Given the description of an element on the screen output the (x, y) to click on. 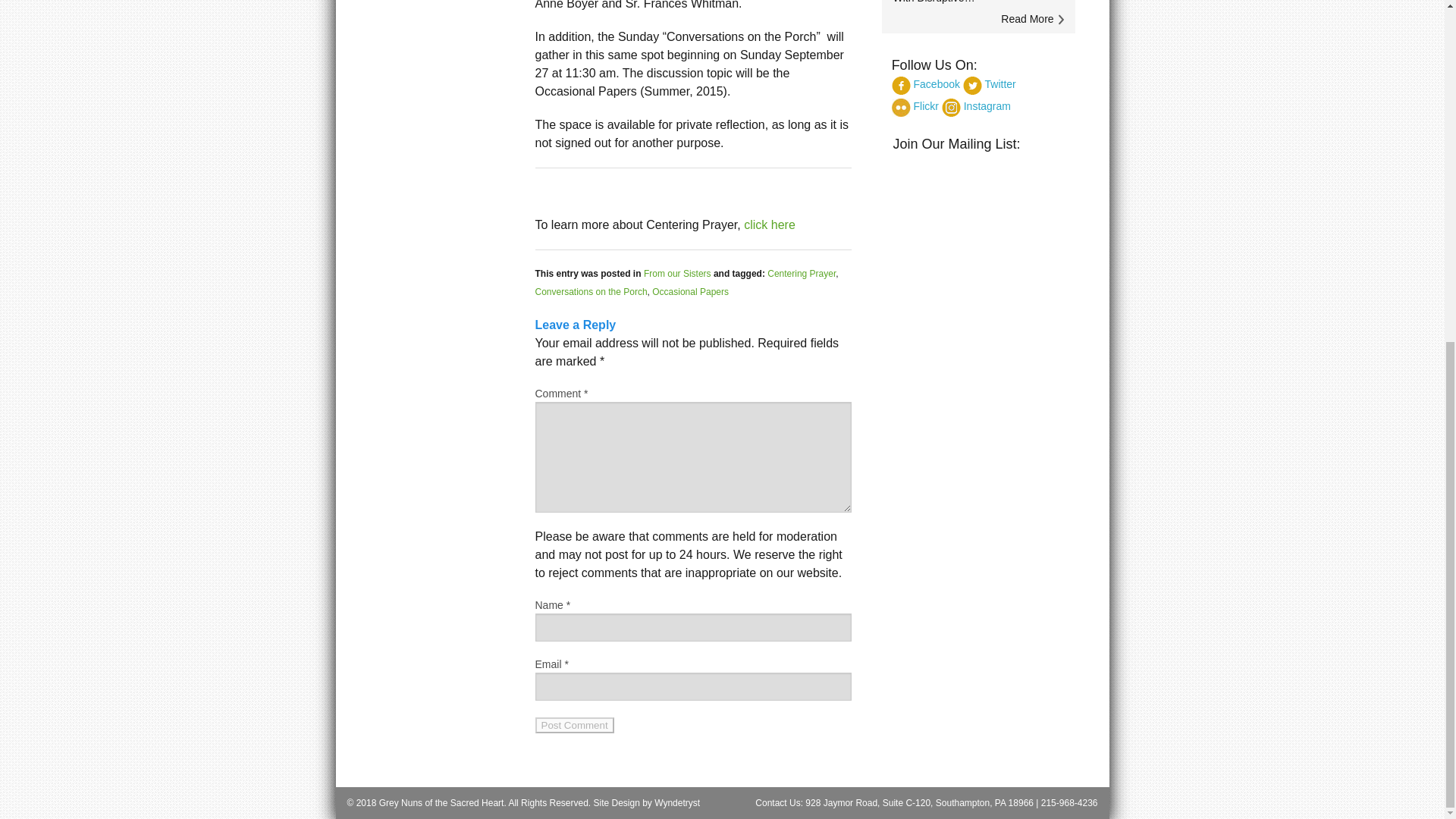
Occasional Papers (690, 291)
Post Comment (574, 725)
click here (769, 224)
Post Comment (574, 725)
From our Sisters (677, 273)
Planting Seeds of Contemplation (769, 224)
Conversations on the Porch (591, 291)
Centering Prayer (801, 273)
